Given the description of an element on the screen output the (x, y) to click on. 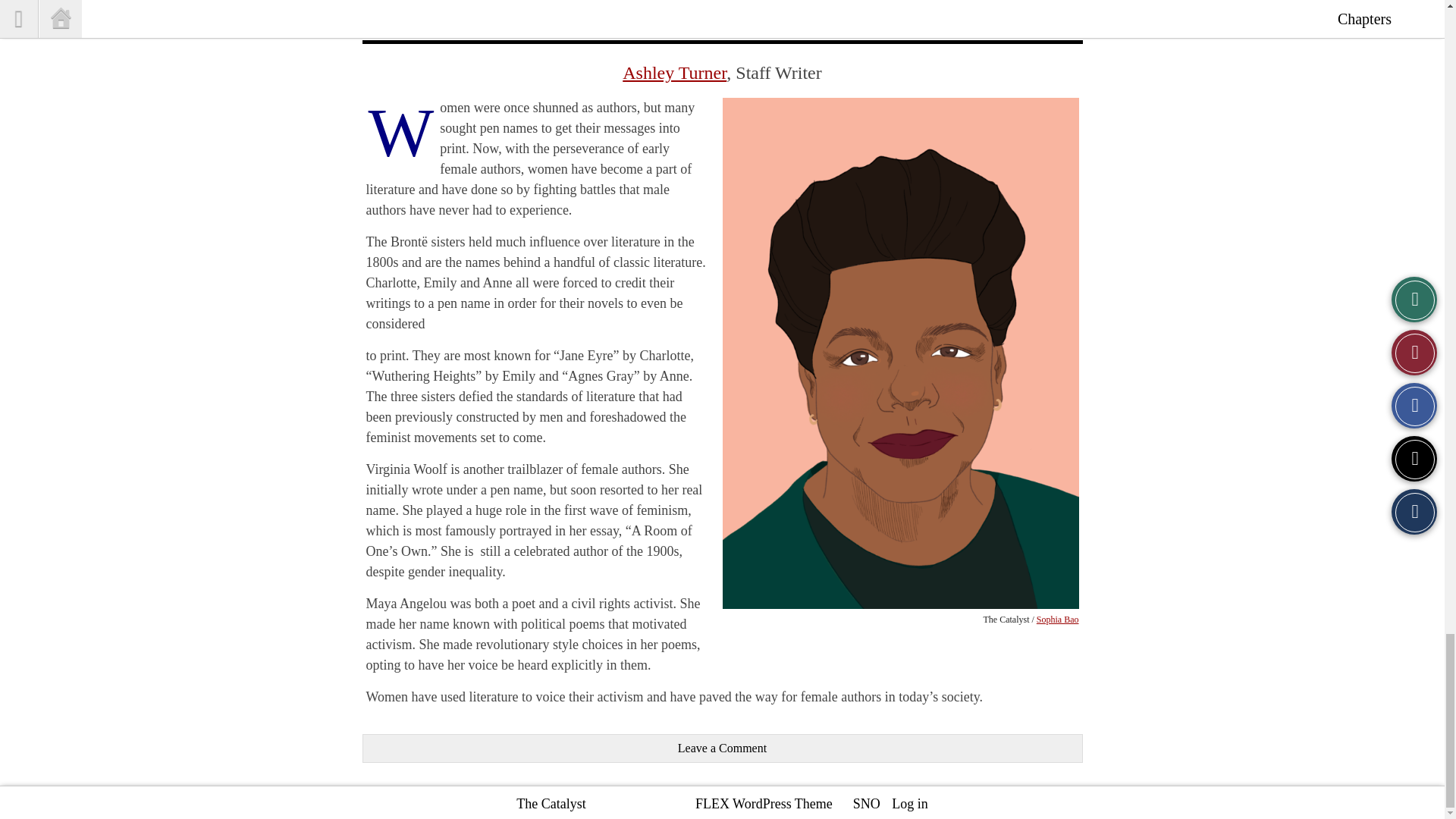
Sophia Bao (1057, 619)
Ashley Turner (674, 72)
The Catalyst (550, 803)
